Given the description of an element on the screen output the (x, y) to click on. 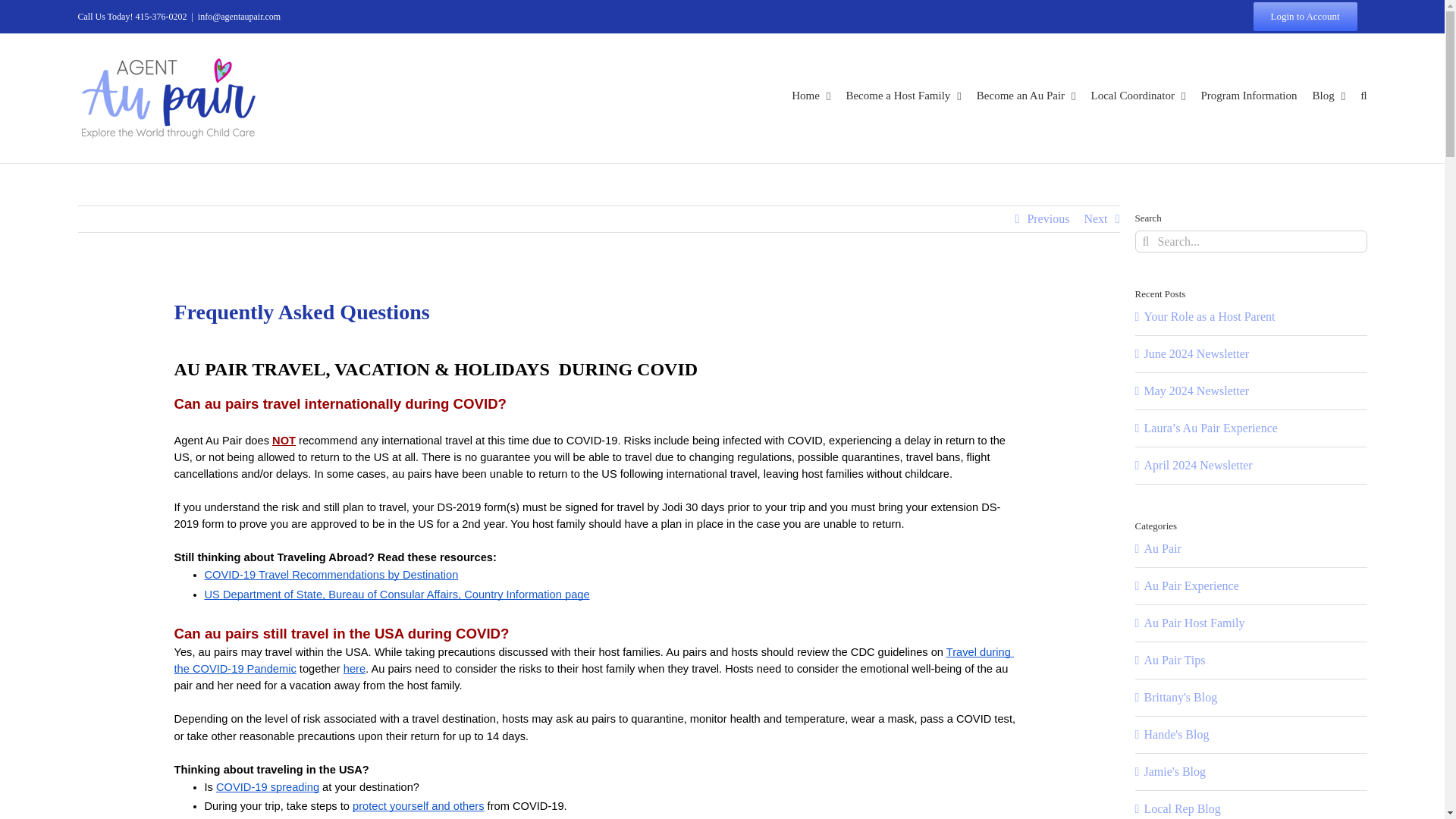
Login to Account (1305, 16)
Become a Host Family (902, 96)
